Given the description of an element on the screen output the (x, y) to click on. 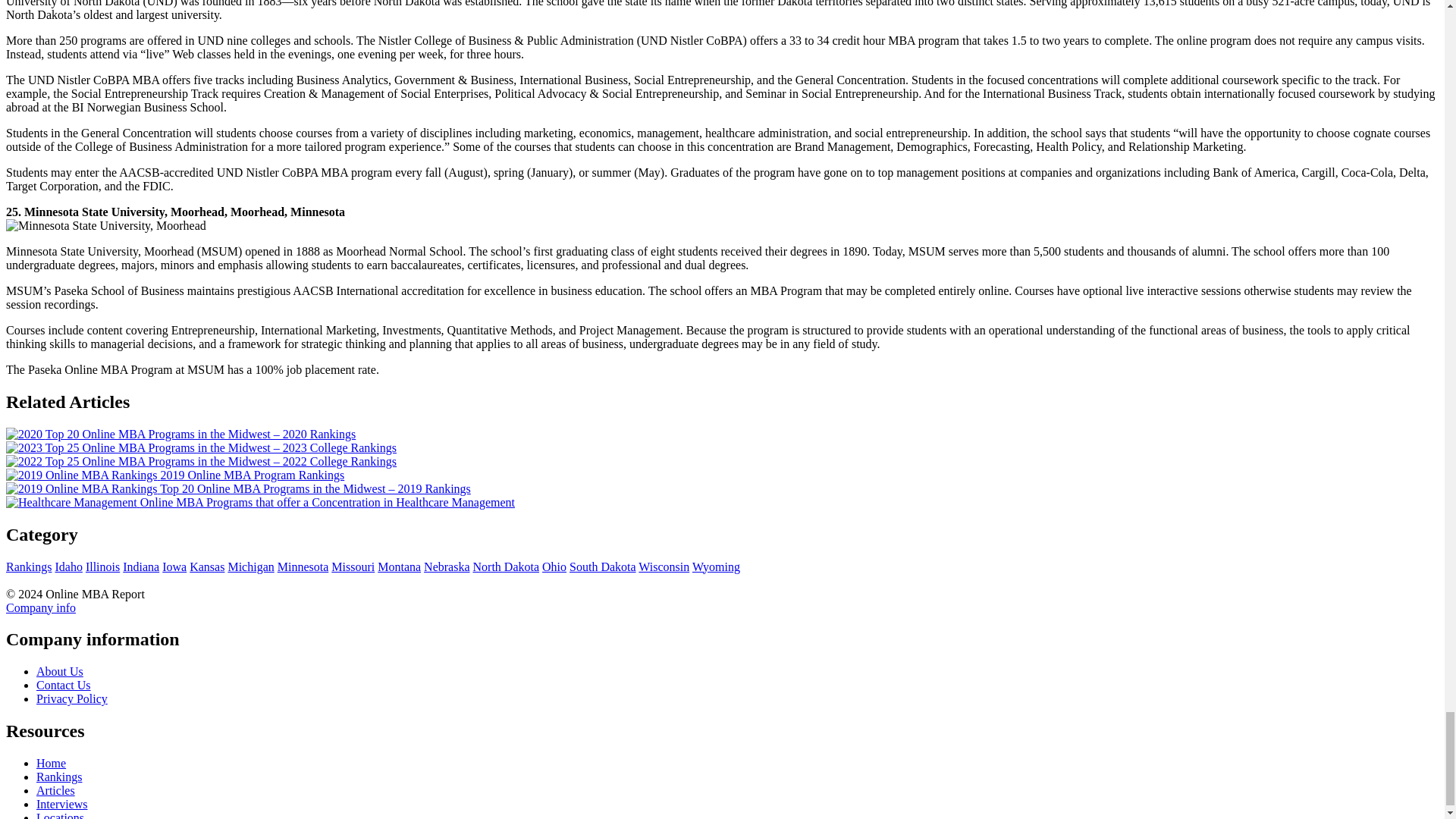
Illinois (102, 565)
Kansas (206, 565)
Michigan (250, 565)
North Dakota (506, 565)
Interviews (61, 803)
Nebraska (445, 565)
2019 Online MBA Program Rankings (174, 474)
Minnesota (303, 565)
South Dakota (602, 565)
Wyoming (716, 565)
Ohio (553, 565)
Rankings (27, 565)
Idaho (68, 565)
Rankings (58, 776)
Indiana (140, 565)
